Given the description of an element on the screen output the (x, y) to click on. 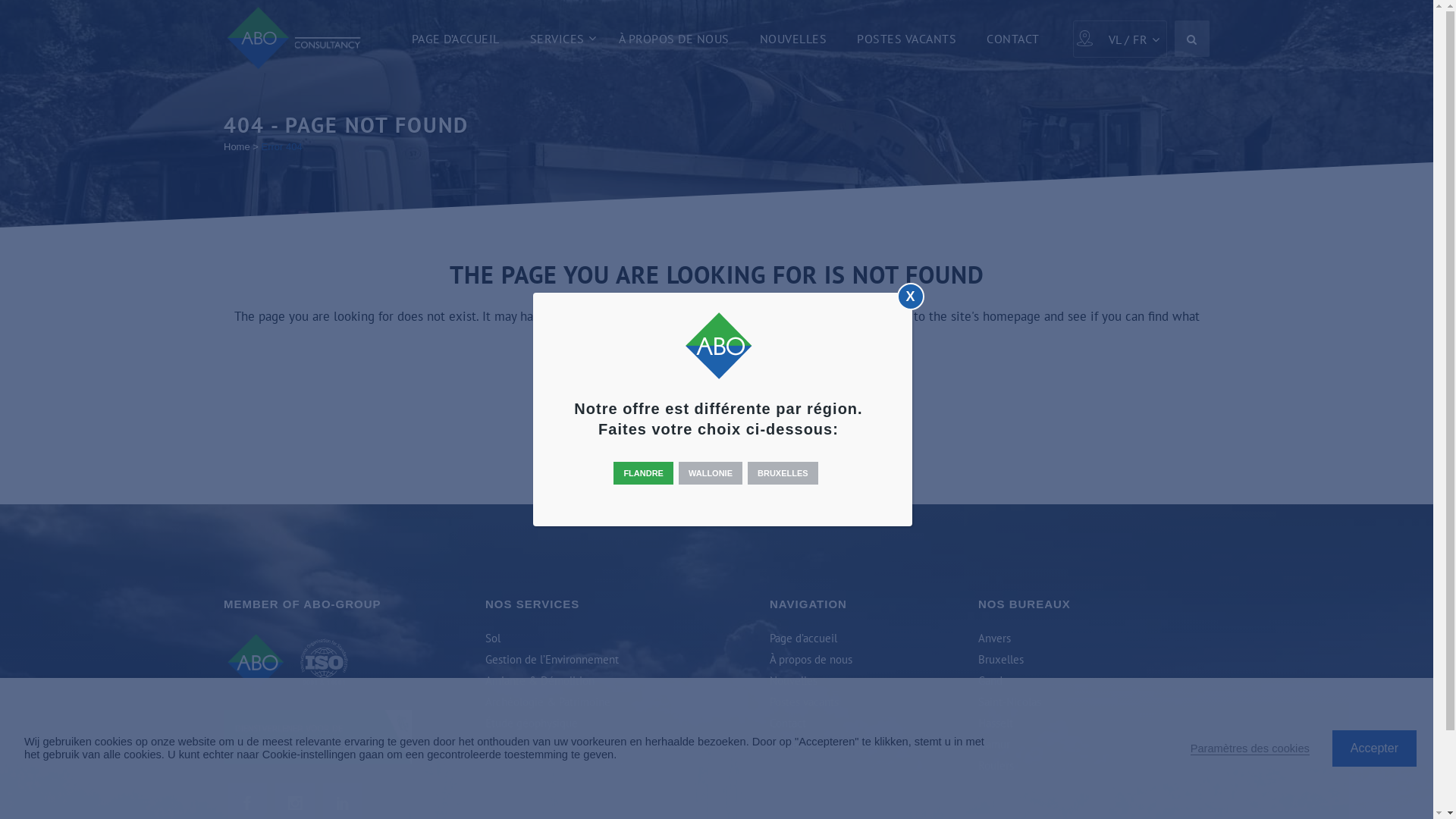
POSTES VACANTS Element type: text (906, 37)
FLANDRE Element type: text (643, 472)
Home Element type: text (236, 146)
BACK TO HOMEPAGE Element type: text (716, 399)
Namur Element type: text (1093, 744)
Accepter Element type: text (1374, 748)
WALLONIE Element type: text (710, 472)
X Element type: text (909, 296)
Anvers Element type: text (1093, 638)
CONTACT Element type: text (1012, 37)
BRUXELLES Element type: text (782, 472)
Saint-Nicolas Element type: text (1093, 701)
Nouvelles Element type: text (864, 680)
Contact Element type: text (864, 723)
NOUVELLES Element type: text (793, 37)
SERVICES Element type: text (558, 37)
Postes vacants Element type: text (864, 701)
Demandez votre devis Element type: text (864, 744)
Roulers Element type: text (1093, 765)
VL / FR Element type: text (1130, 38)
Bruxelles Element type: text (1093, 659)
Gand Element type: text (1093, 680)
Sol Element type: text (597, 638)
Hasselt Element type: text (1093, 723)
